Given the description of an element on the screen output the (x, y) to click on. 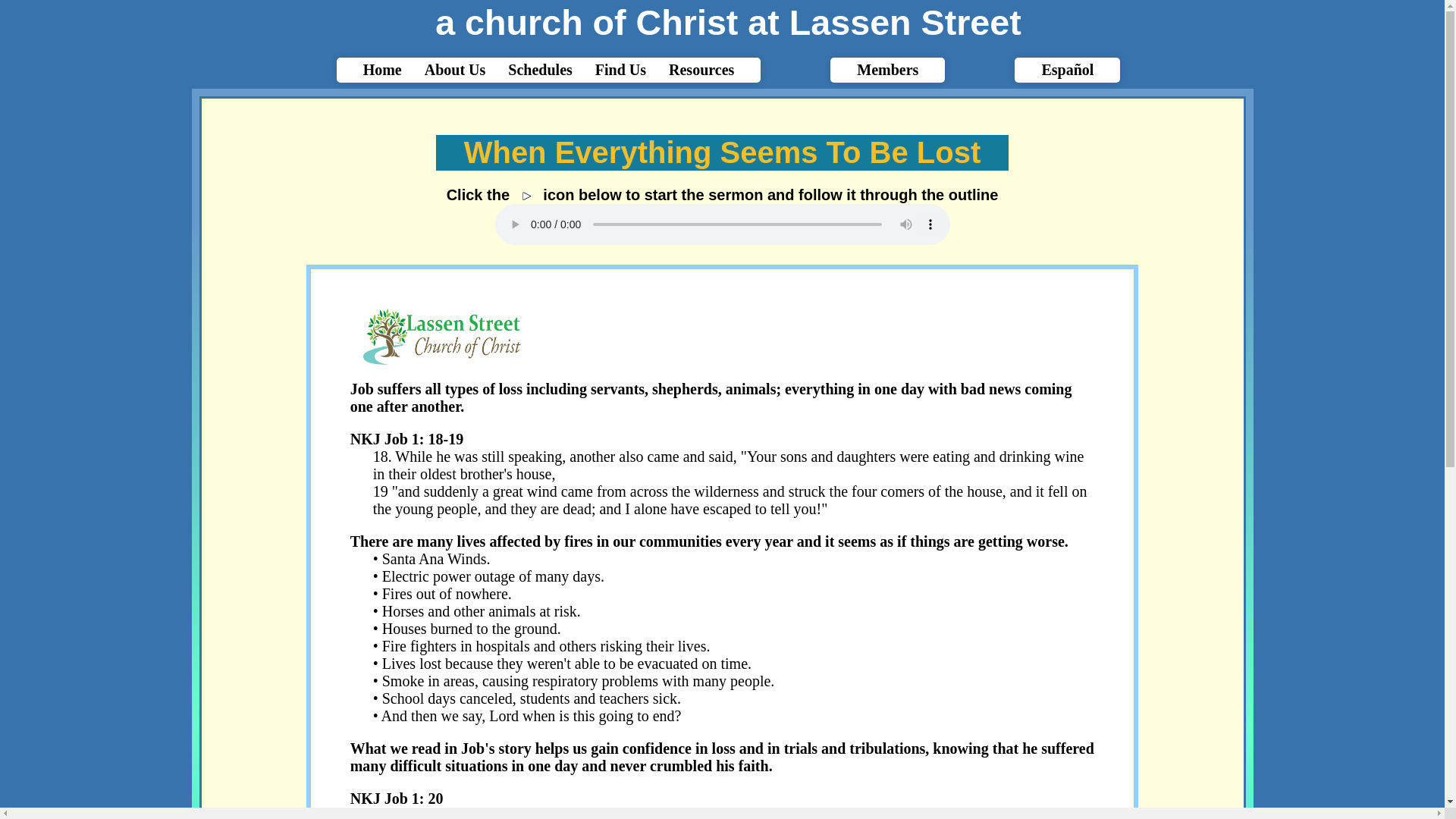
About Us (455, 69)
Home (382, 69)
Schedules (539, 69)
Find Us (620, 69)
Resources (701, 69)
